Given the description of an element on the screen output the (x, y) to click on. 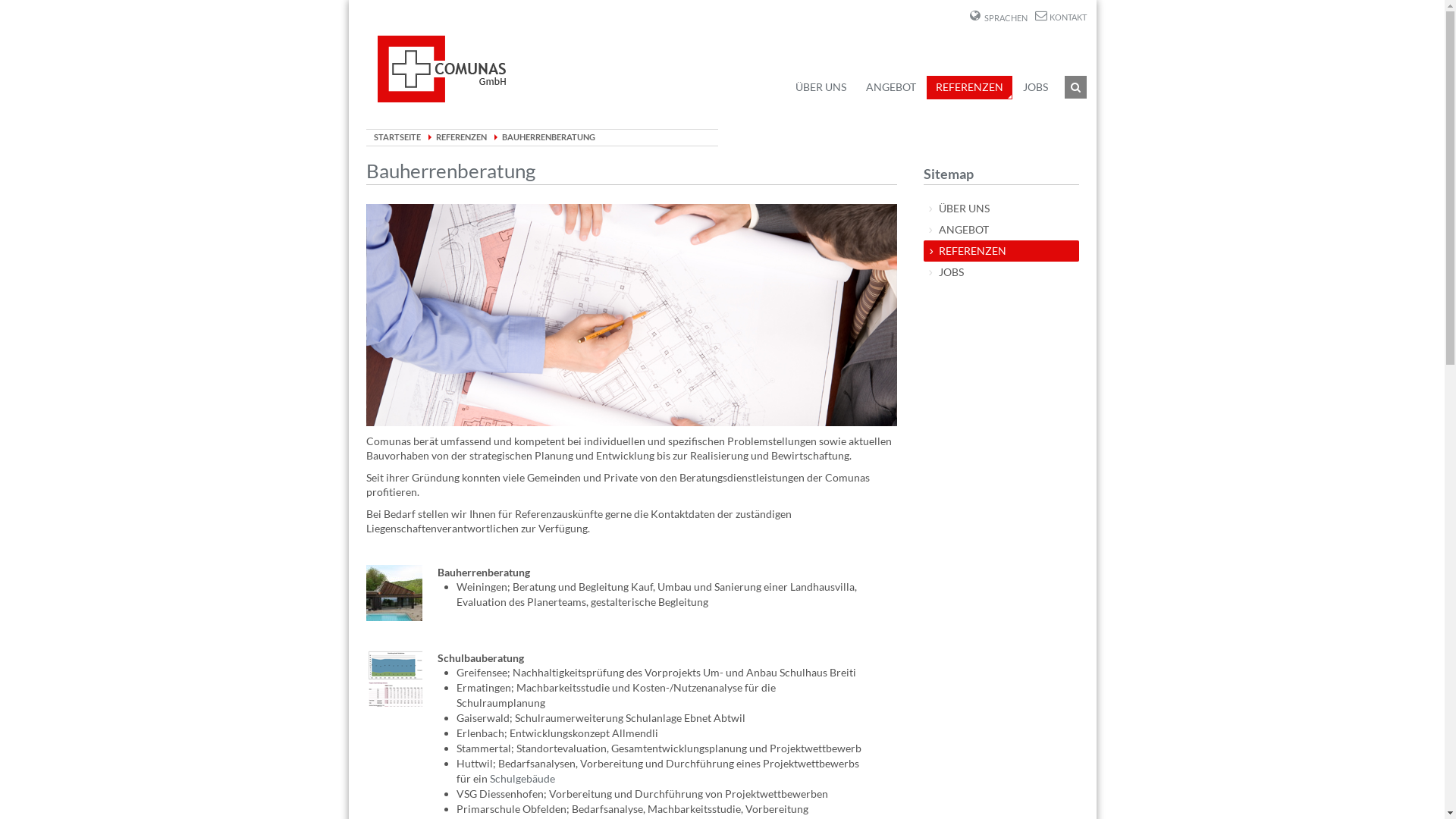
ANGEBOT Element type: text (890, 86)
REFERENZEN Element type: text (460, 136)
REFERENZEN Element type: text (969, 87)
Comunas Home Element type: hover (441, 68)
Webseite der Architekten Element type: hover (393, 590)
JOBS Element type: text (1034, 86)
ANGEBOT Element type: text (1001, 229)
SPRACHEN Element type: text (997, 17)
REFERENZEN Element type: text (1001, 250)
Bauherrenberatung Element type: text (449, 170)
JOBS Element type: text (1001, 271)
STARTSEITE Element type: text (396, 136)
KONTAKT Element type: text (1059, 15)
